Given the description of an element on the screen output the (x, y) to click on. 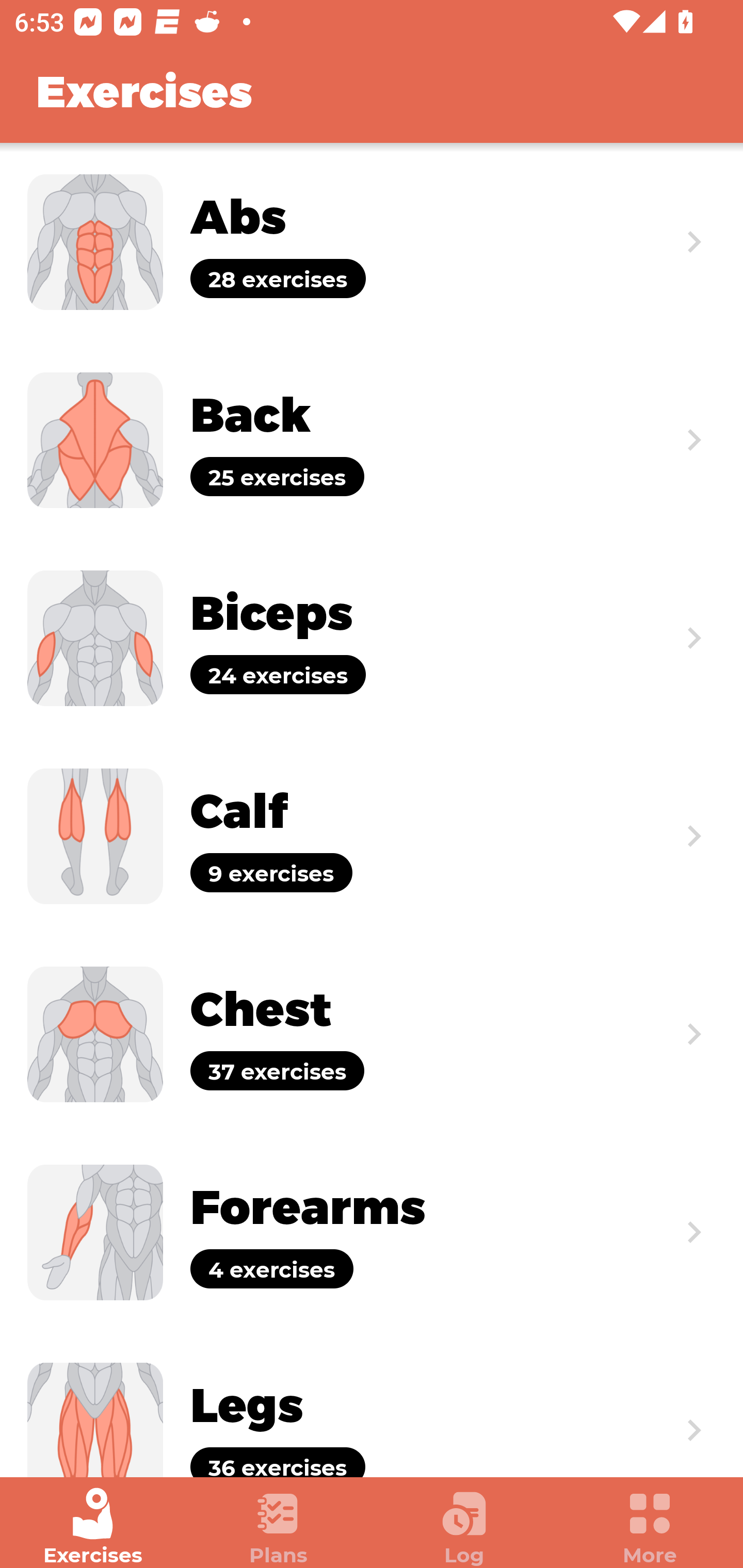
Exercise Abs 28 exercises (371, 241)
Exercise Back 25 exercises (371, 439)
Exercise Biceps 24 exercises (371, 637)
Exercise Calf 9 exercises (371, 836)
Exercise Chest 37 exercises (371, 1033)
Exercise Forearms 4 exercises (371, 1232)
Exercise Legs 36 exercises (371, 1404)
Exercises (92, 1527)
Plans (278, 1527)
Log (464, 1527)
More (650, 1527)
